Given the description of an element on the screen output the (x, y) to click on. 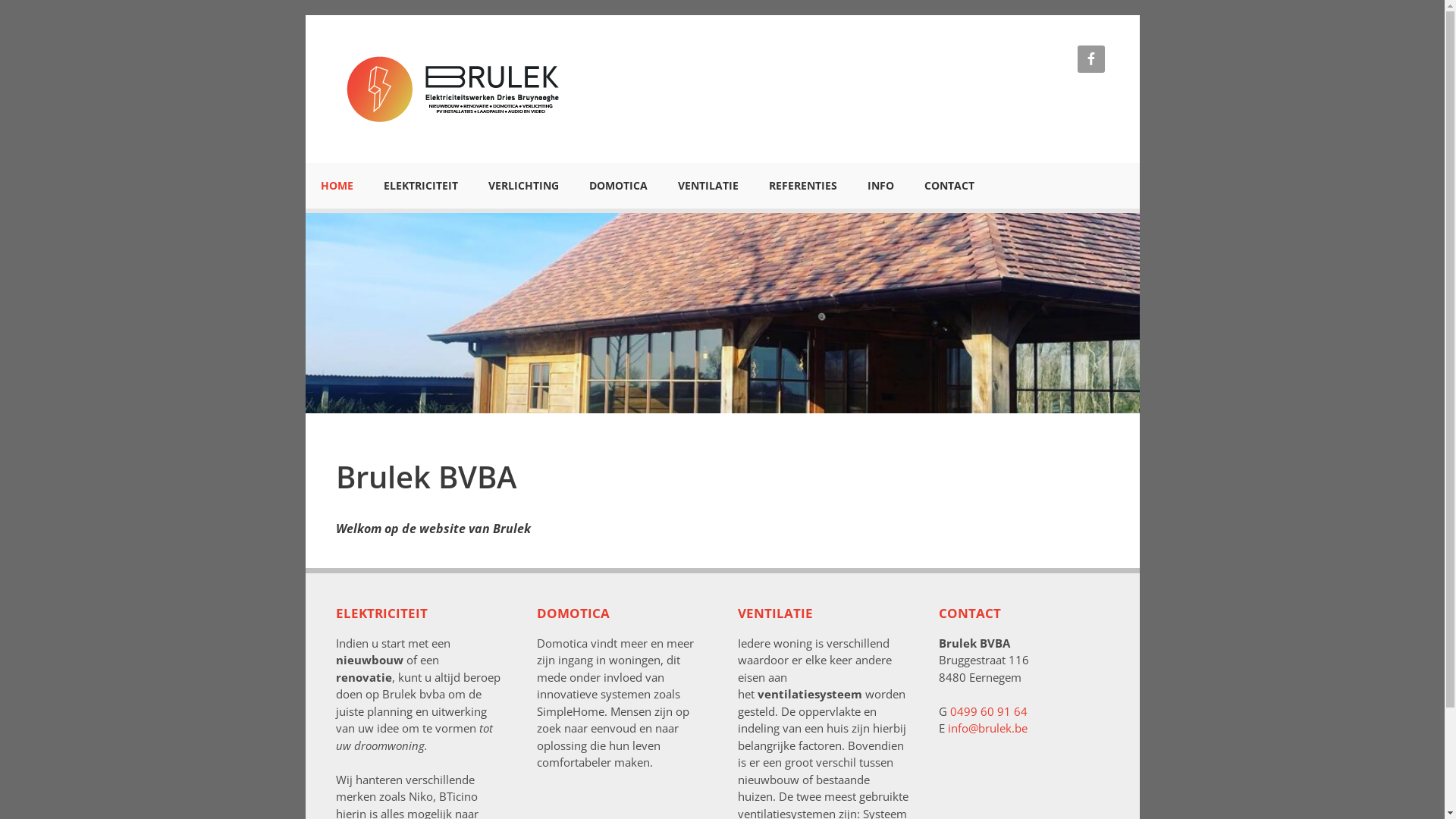
0499 60 91 64 Element type: text (987, 710)
INFO Element type: text (880, 185)
ELEKTRICITEIT Element type: text (420, 185)
VERLICHTING Element type: text (523, 185)
REFERENTIES Element type: text (802, 185)
VENTILATIE Element type: text (707, 185)
CONTACT Element type: text (948, 185)
HOME Element type: text (335, 185)
info@brulek.be Element type: text (987, 727)
DOMOTICA Element type: text (617, 185)
